Given the description of an element on the screen output the (x, y) to click on. 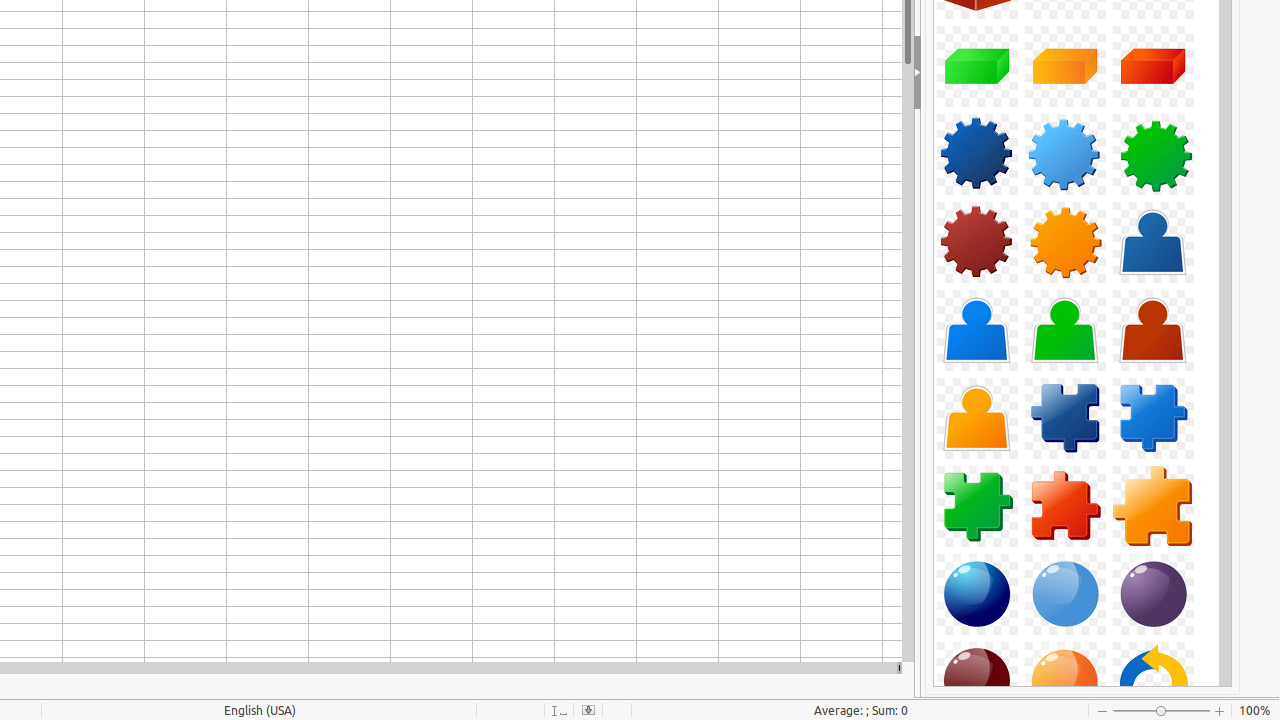
Component-Gear02-LightBlue Element type: list-item (1065, 154)
Component-PuzzlePiece01-DarkBlue Element type: list-item (1065, 417)
Component-Cuboid04-Orange Element type: list-item (1065, 65)
Component-Gear04-DarkRed Element type: list-item (977, 242)
Component-PuzzlePiece02-Blue Element type: list-item (1153, 417)
